Given the description of an element on the screen output the (x, y) to click on. 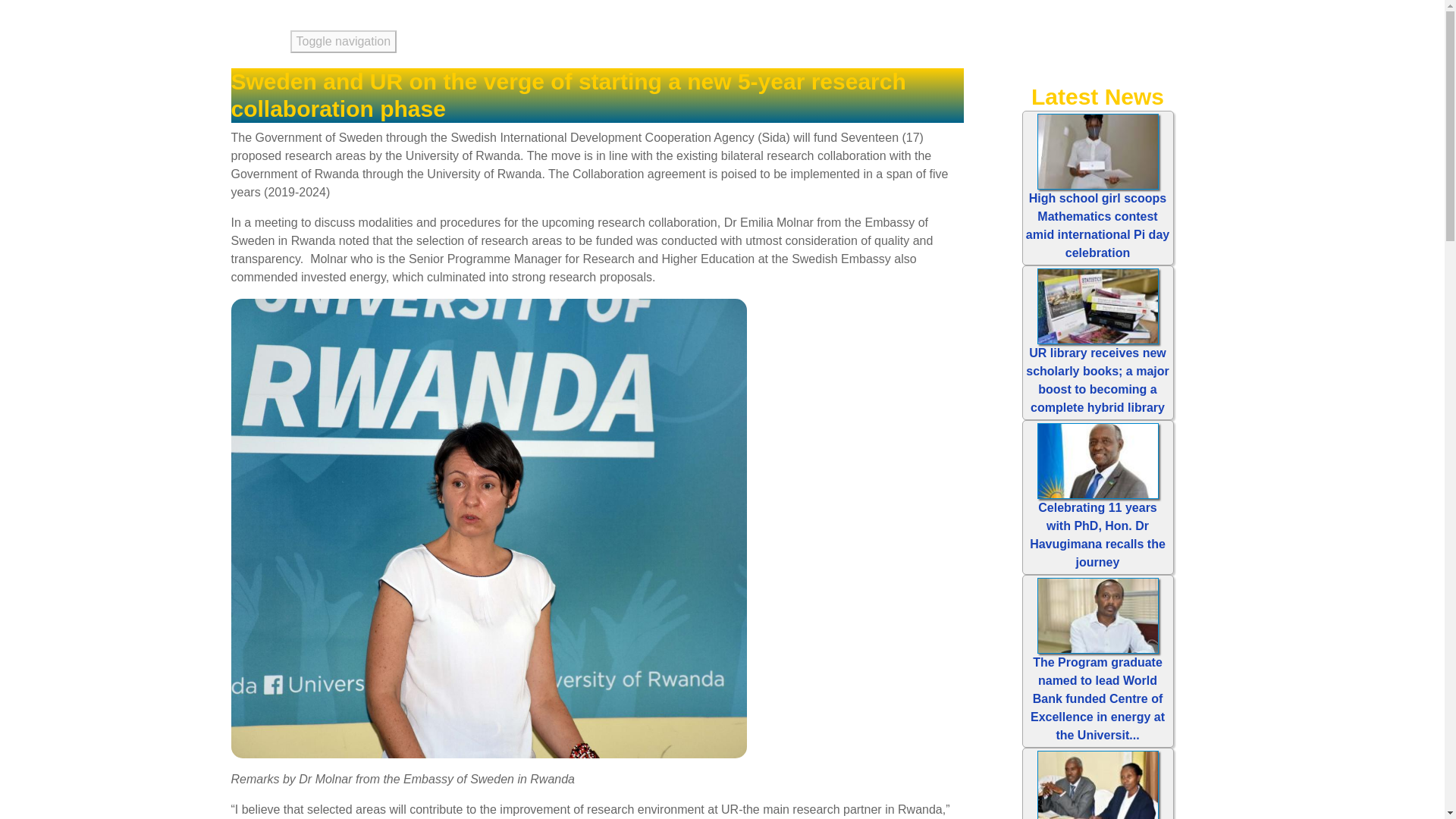
Toggle navigation (342, 41)
